Given the description of an element on the screen output the (x, y) to click on. 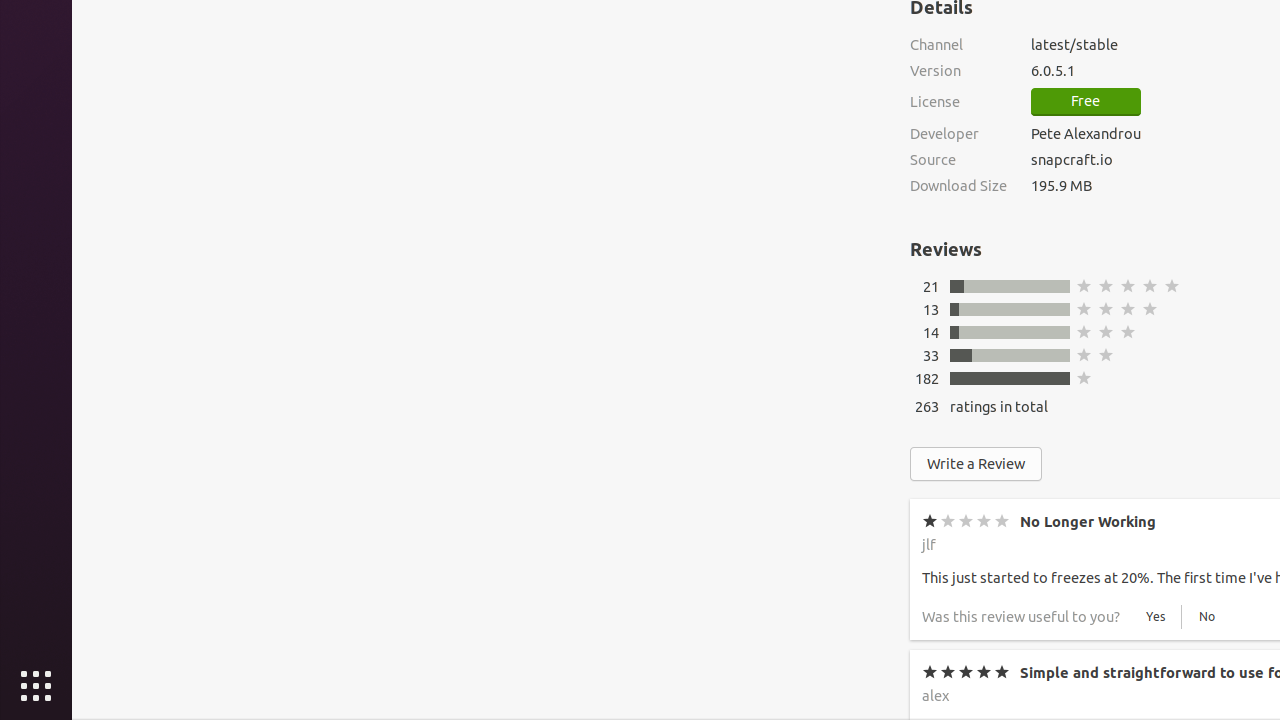
Reviews Element type: label (946, 249)
jlf Element type: label (929, 544)
Version Element type: label (958, 70)
ratings in total Element type: label (999, 406)
Source Element type: label (958, 159)
